Given the description of an element on the screen output the (x, y) to click on. 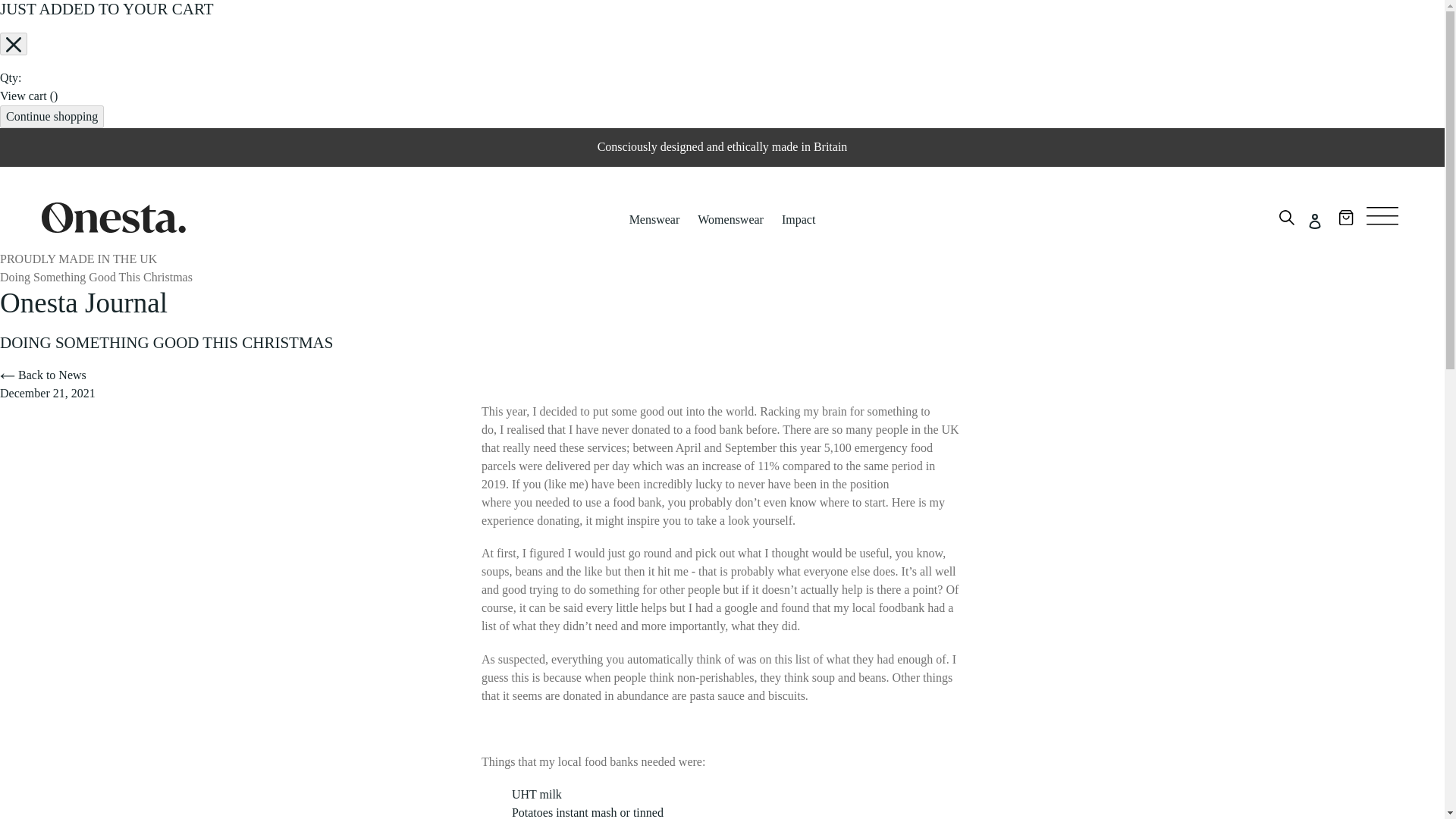
Impact (798, 219)
Continue shopping (51, 116)
Menswear (654, 219)
Womenswear (730, 219)
Search (1286, 219)
Back to News (42, 374)
Log in (1314, 219)
